Given the description of an element on the screen output the (x, y) to click on. 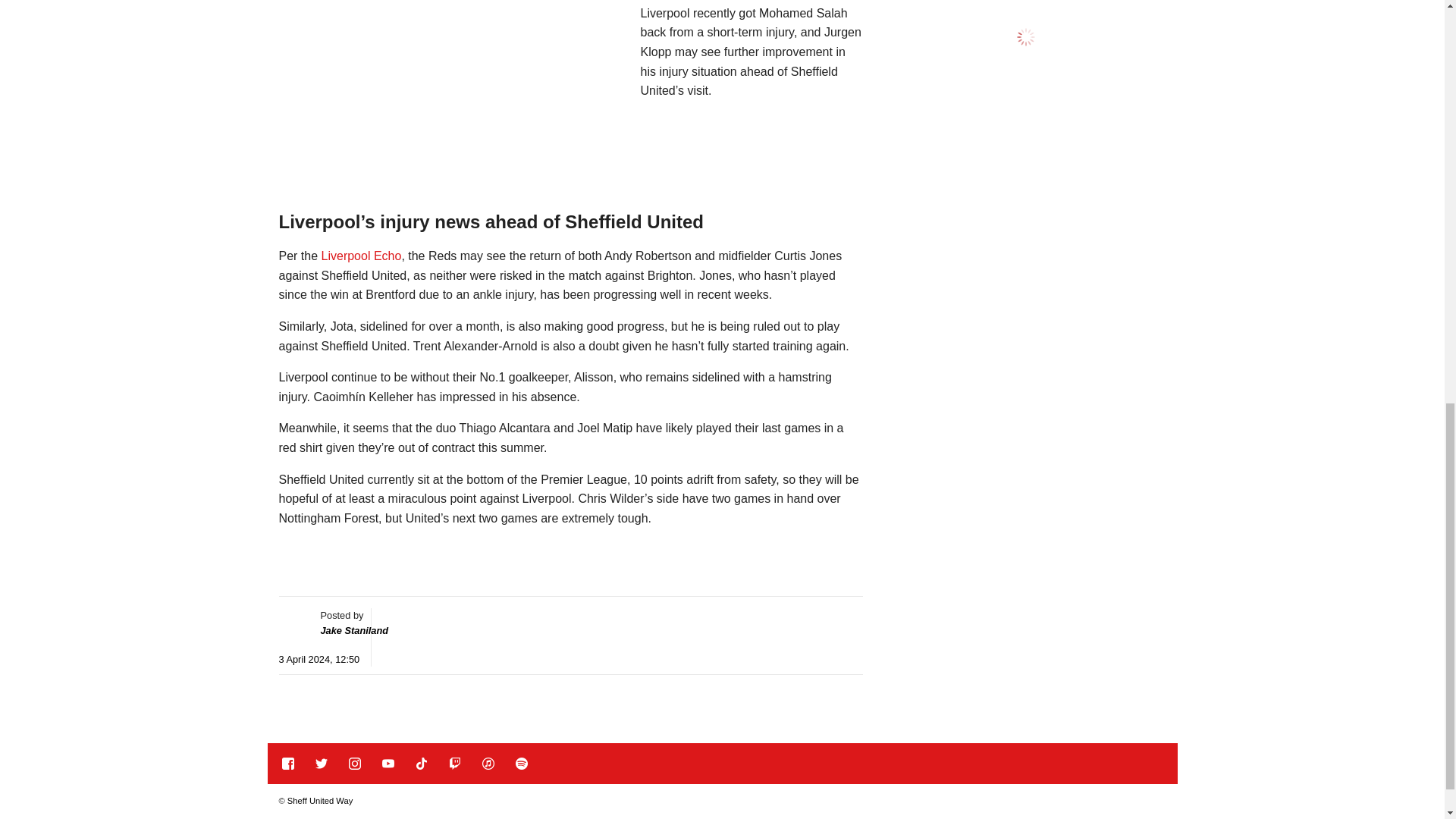
Liverpool Echo (361, 255)
